Given the description of an element on the screen output the (x, y) to click on. 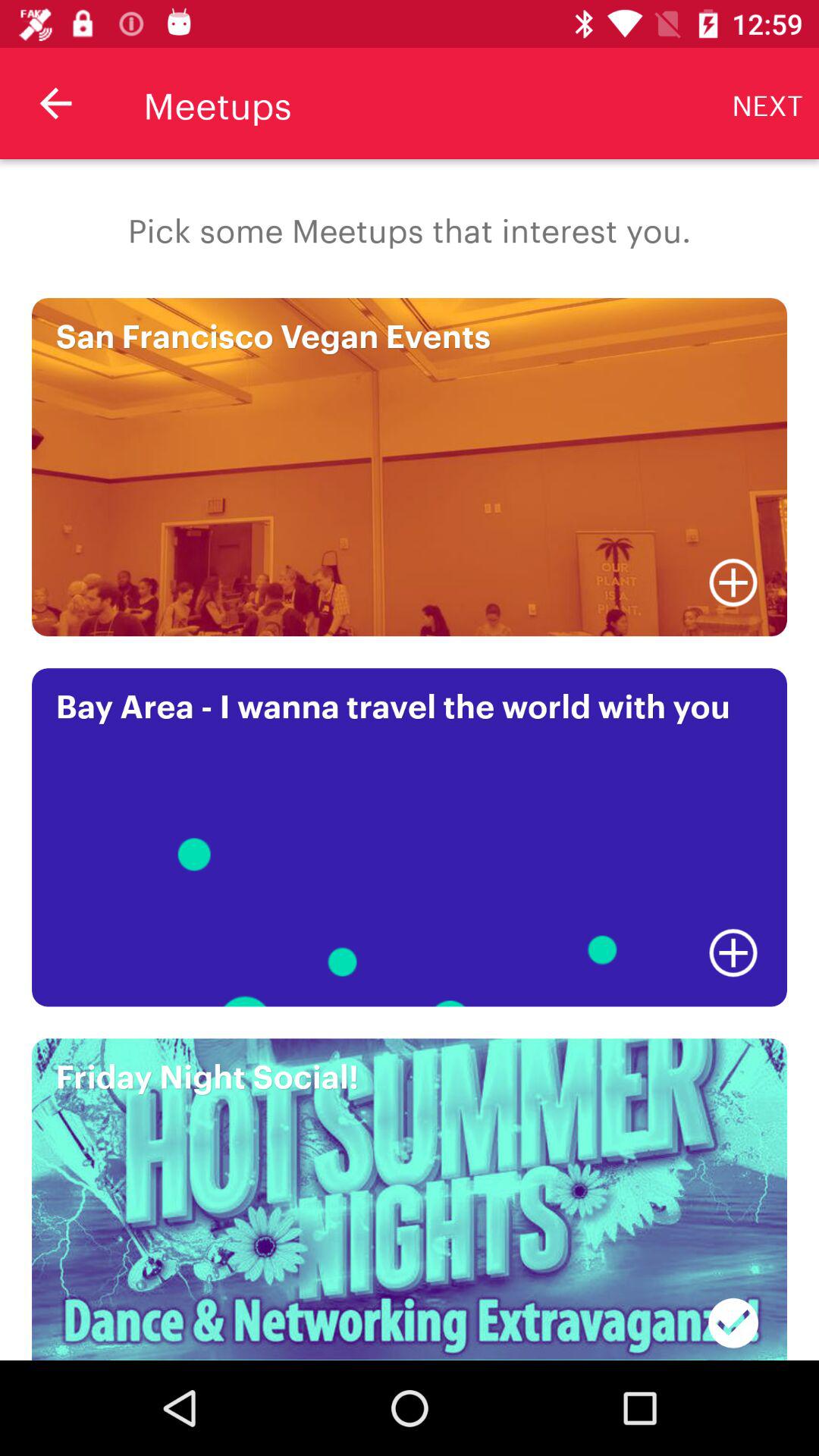
tap the item above pick some meetups icon (767, 103)
